Given the description of an element on the screen output the (x, y) to click on. 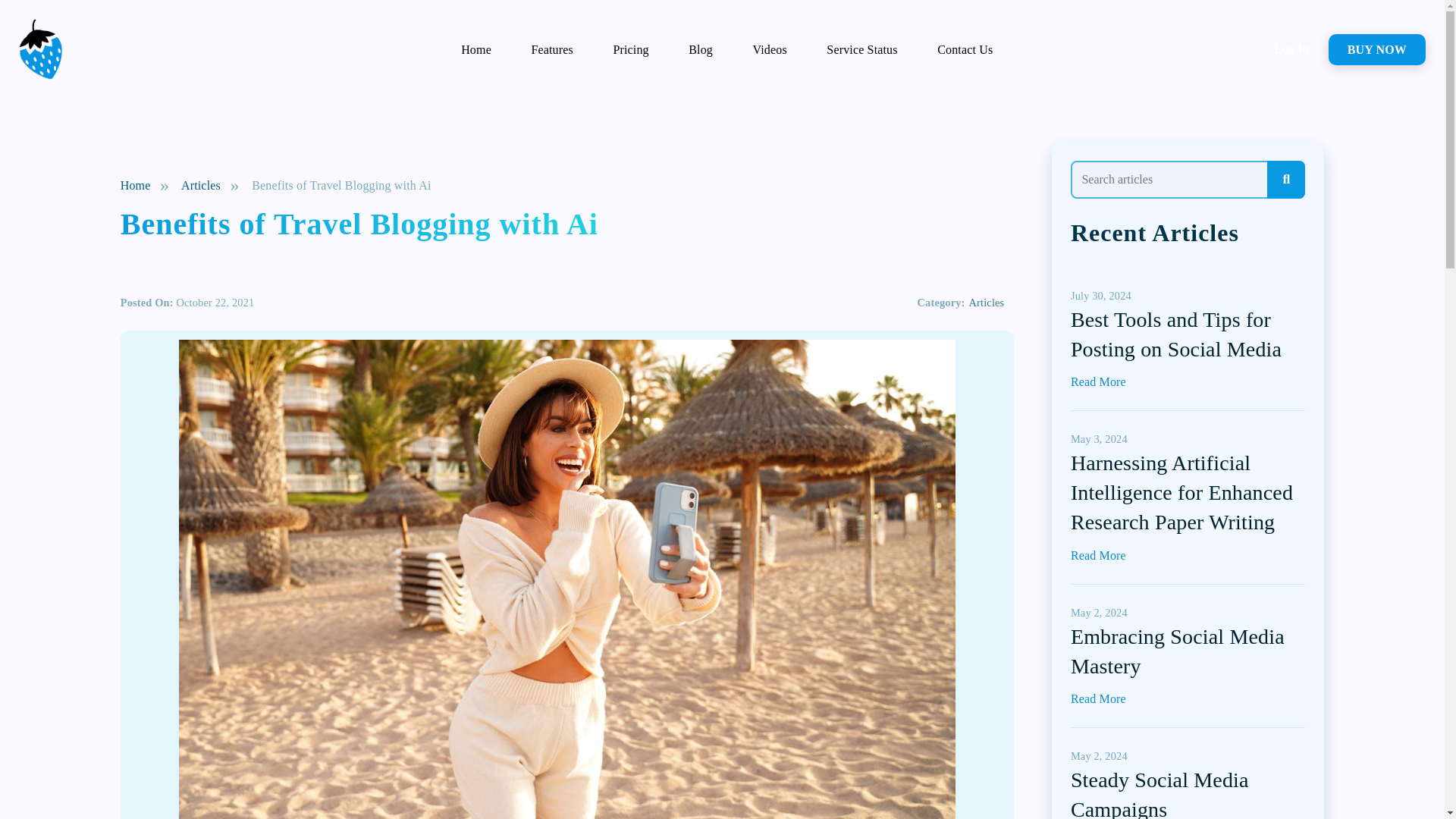
Log In (1291, 49)
Read More (1097, 698)
Read More (1097, 554)
Embracing Social Media Mastery (1177, 651)
Pricing (630, 49)
Steady Social Media Campaigns (1159, 793)
Read More (1097, 381)
Read More (1097, 381)
Articles (986, 301)
Best Tools and Tips for Posting on Social Media (1175, 334)
Contact Us (965, 49)
BUY NOW (1376, 48)
Home (135, 185)
